Given the description of an element on the screen output the (x, y) to click on. 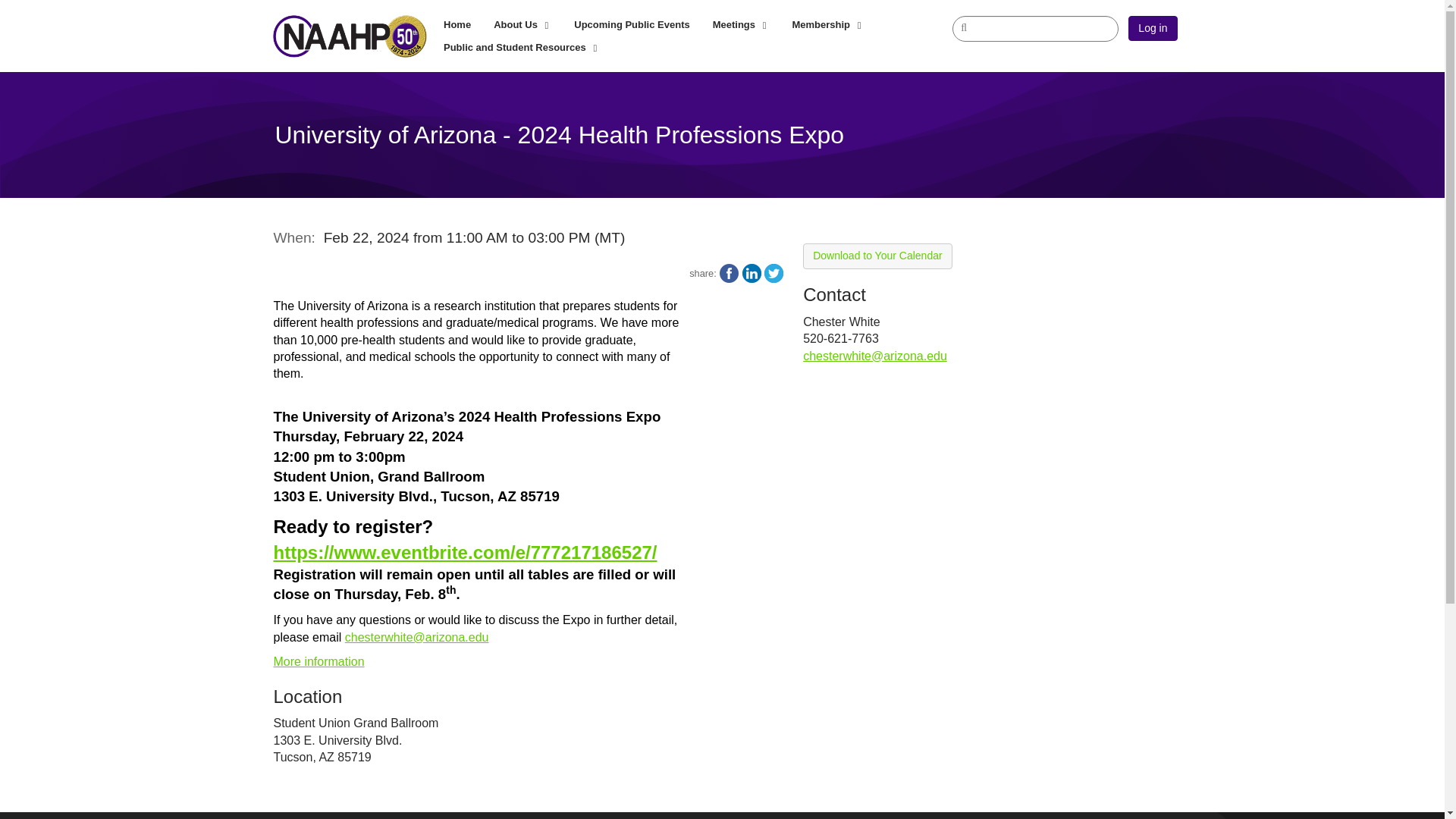
Facebook Share (728, 272)
Share on Twitter (773, 272)
LinkedIn Share (751, 272)
search (1035, 27)
Share on Facebook (728, 272)
Twitter Share (773, 272)
Membership (827, 24)
More information (318, 661)
Public and Student Resources (521, 47)
Share on LinkedIn (751, 272)
